Given the description of an element on the screen output the (x, y) to click on. 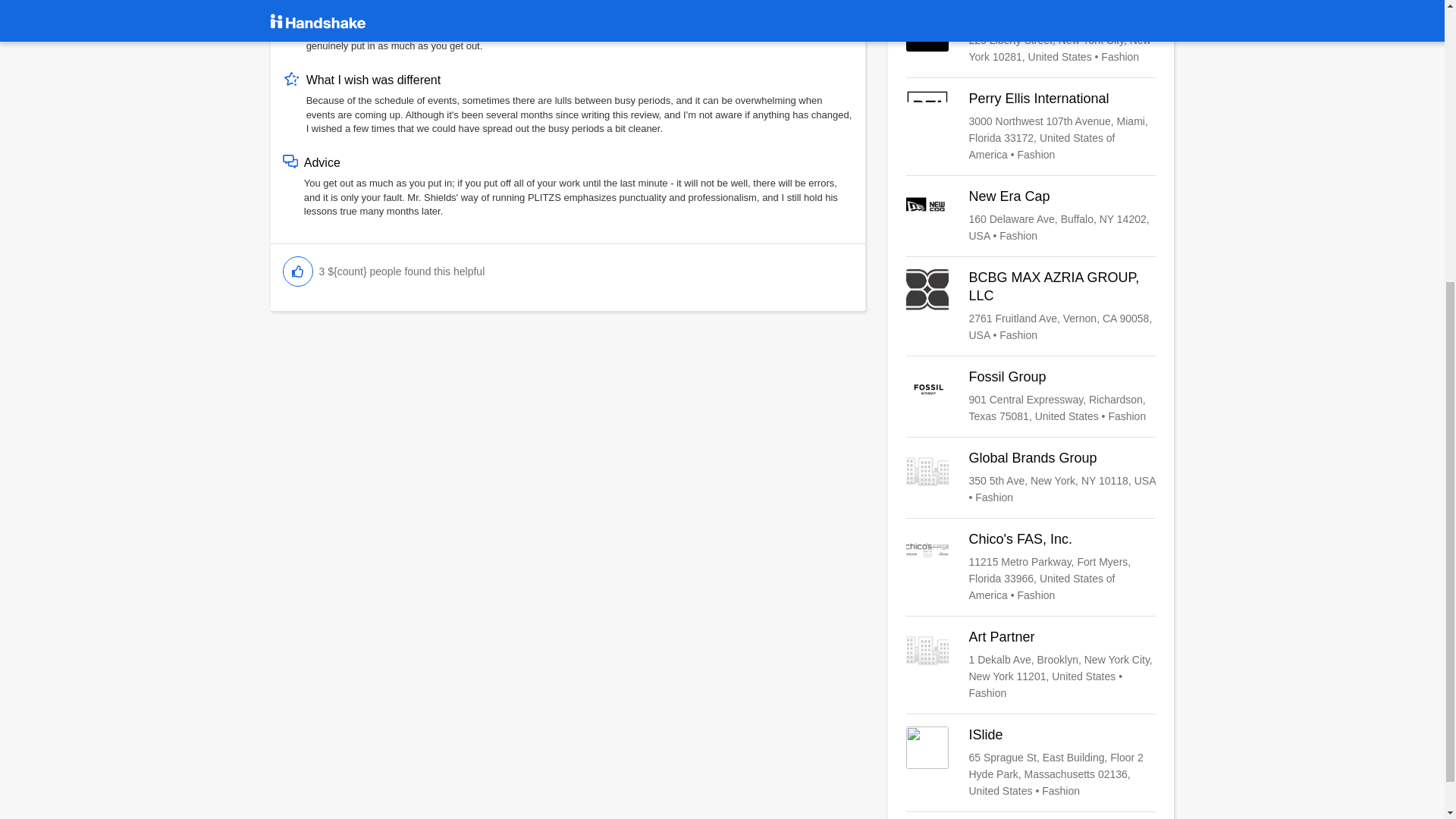
ISlide (1030, 762)
Chico's FAS, Inc. (1030, 566)
Perry Ellis International (1030, 126)
New Era Cap (1030, 216)
Art Partner (1030, 664)
Global Brands Group (1030, 477)
BCBG MAX AZRIA GROUP, LLC (1030, 306)
Saks (1030, 37)
Fossil Group (1030, 396)
Mark this as helpful (297, 271)
